Given the description of an element on the screen output the (x, y) to click on. 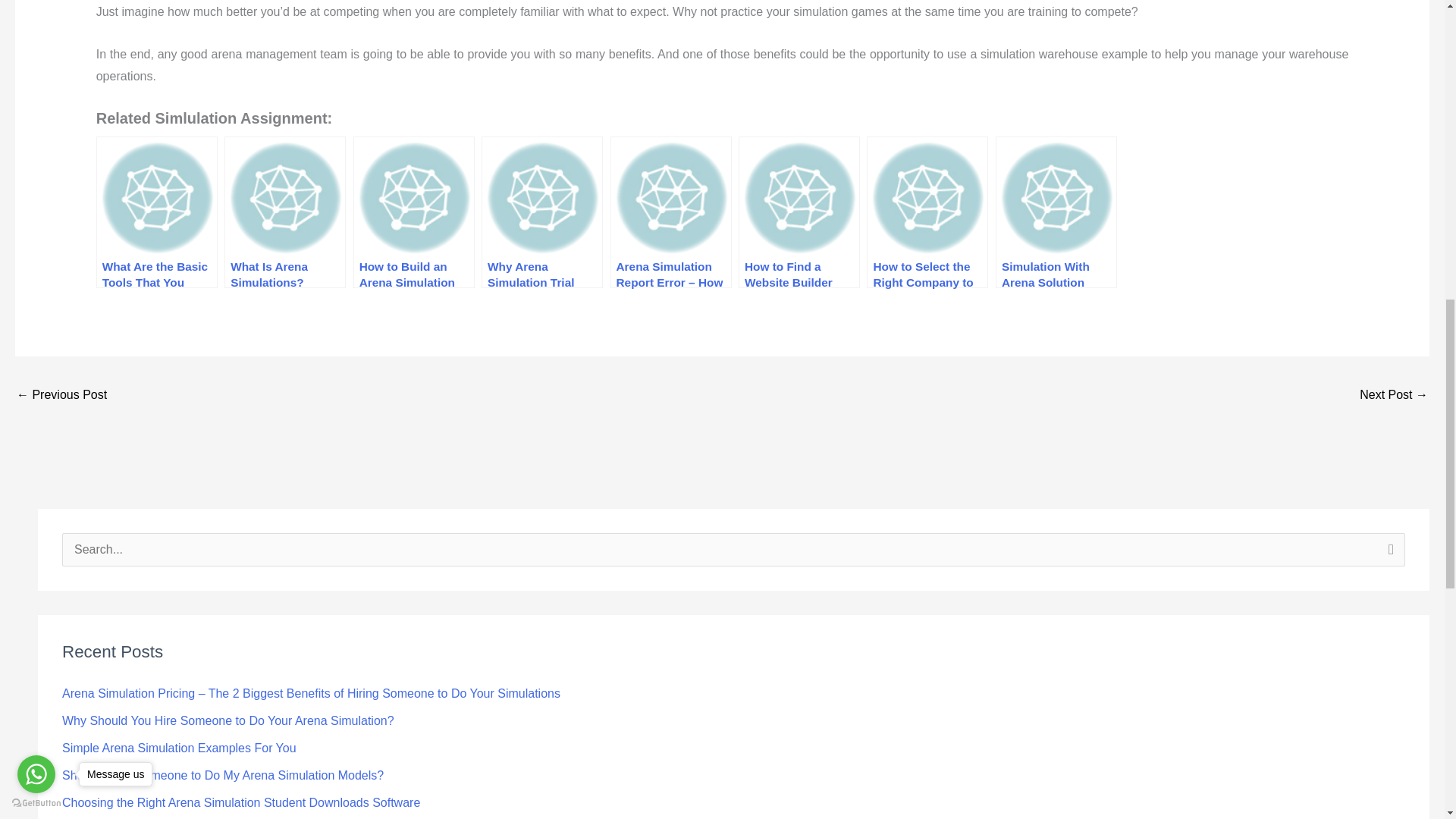
Why Should You Hire Someone to Do Your Arena Simulation? (228, 720)
Arena Simulation Software Tutorial (61, 396)
Rockwell Arena Simulation Tutorial (1393, 396)
Should I Hire Someone to Do My Arena Simulation Models? (223, 775)
Simple Arena Simulation Examples For You (179, 748)
